Given the description of an element on the screen output the (x, y) to click on. 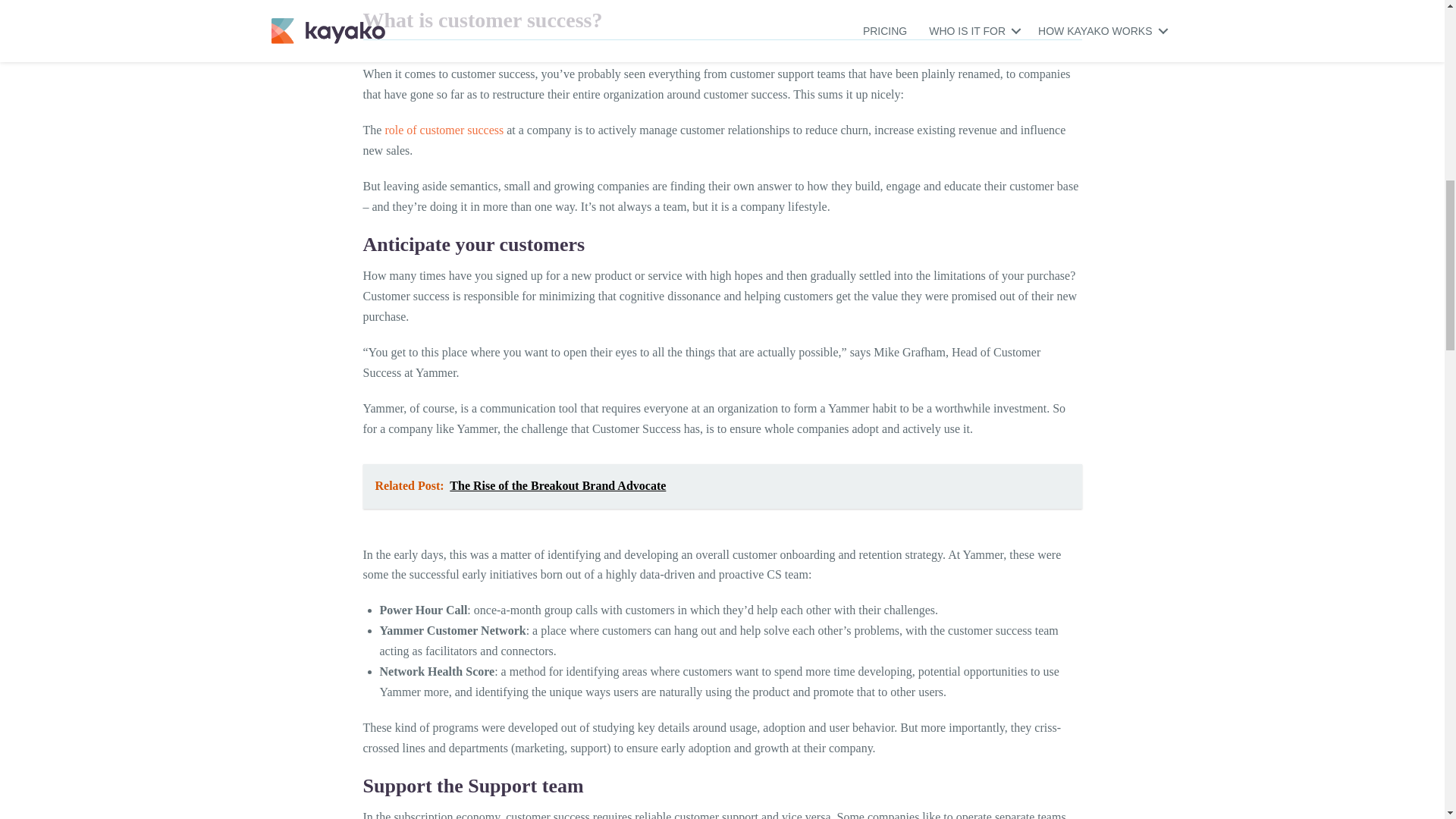
role of customer success (443, 129)
Related Post:  The Rise of the Breakout Brand Advocate (721, 486)
